Given the description of an element on the screen output the (x, y) to click on. 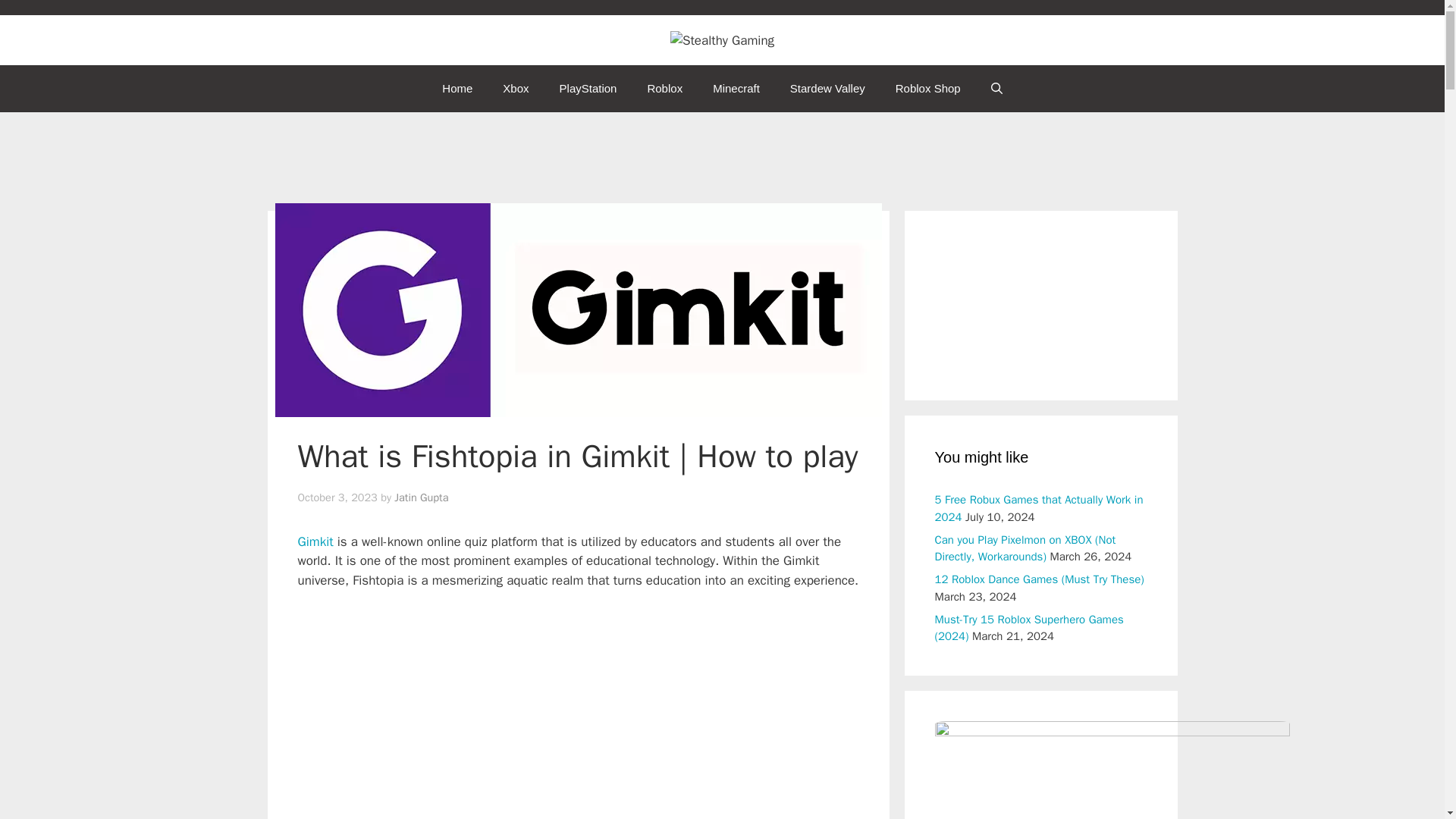
Gimkit (315, 541)
Jatin Gupta (421, 497)
Xbox (515, 88)
Minecraft (735, 88)
Roblox Shop (927, 88)
Roblox (664, 88)
Home (456, 88)
Stardew Valley (827, 88)
PlayStation (587, 88)
View all posts by Jatin Gupta (421, 497)
